Given the description of an element on the screen output the (x, y) to click on. 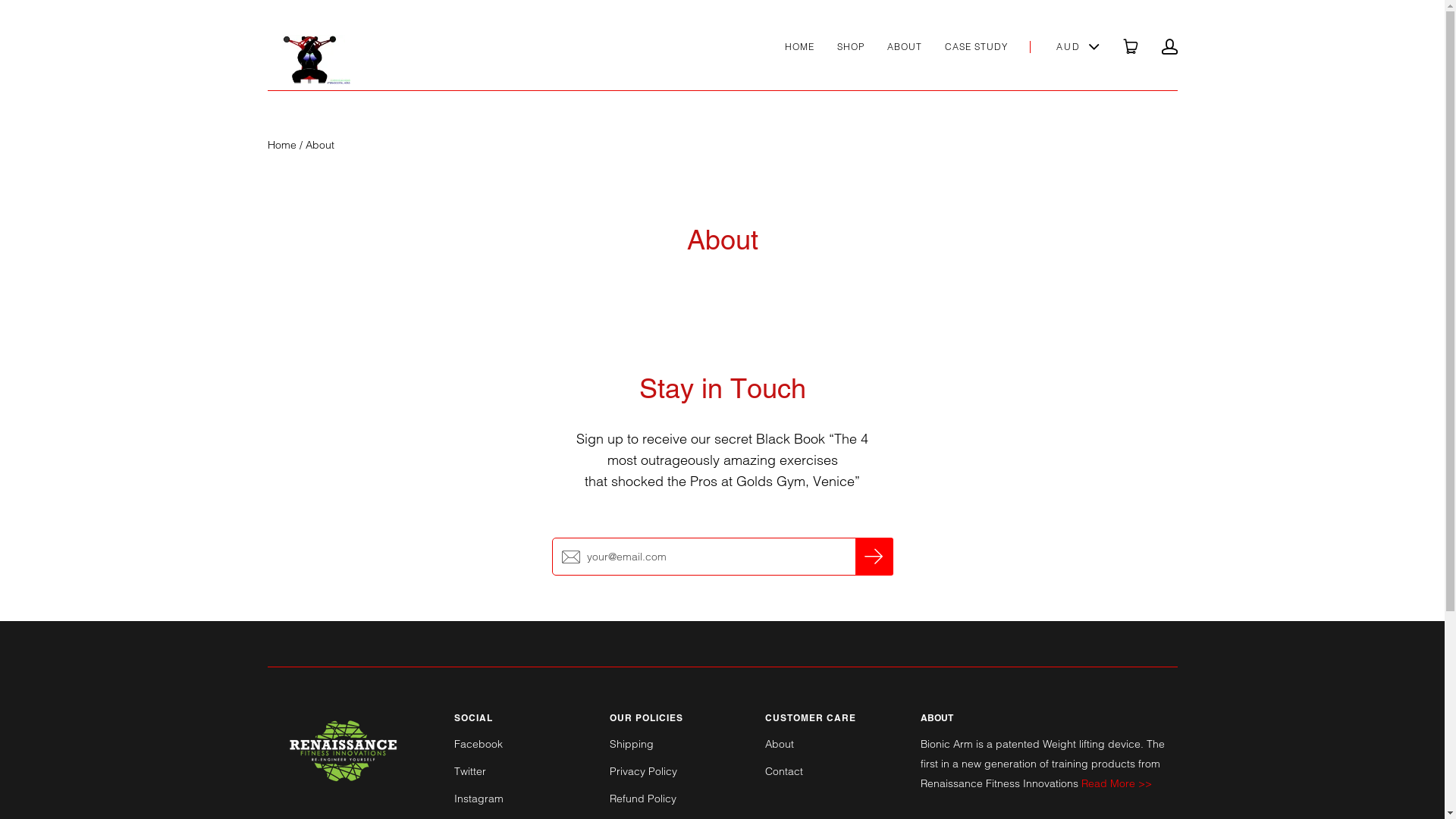
Twitter Element type: text (469, 771)
ABOUT Element type: text (904, 46)
Instagram Element type: text (477, 798)
Read More >> Element type: text (1116, 783)
CASE STUDY Element type: text (975, 46)
SHOP Element type: text (850, 46)
Home Element type: text (280, 144)
Facebook Element type: text (477, 743)
Shipping Element type: text (631, 743)
Contact Element type: text (783, 771)
Subscribe Element type: text (874, 556)
HOME Element type: text (798, 46)
Privacy Policy Element type: text (643, 771)
About Element type: text (778, 743)
Refund Policy Element type: text (642, 798)
